Given the description of an element on the screen output the (x, y) to click on. 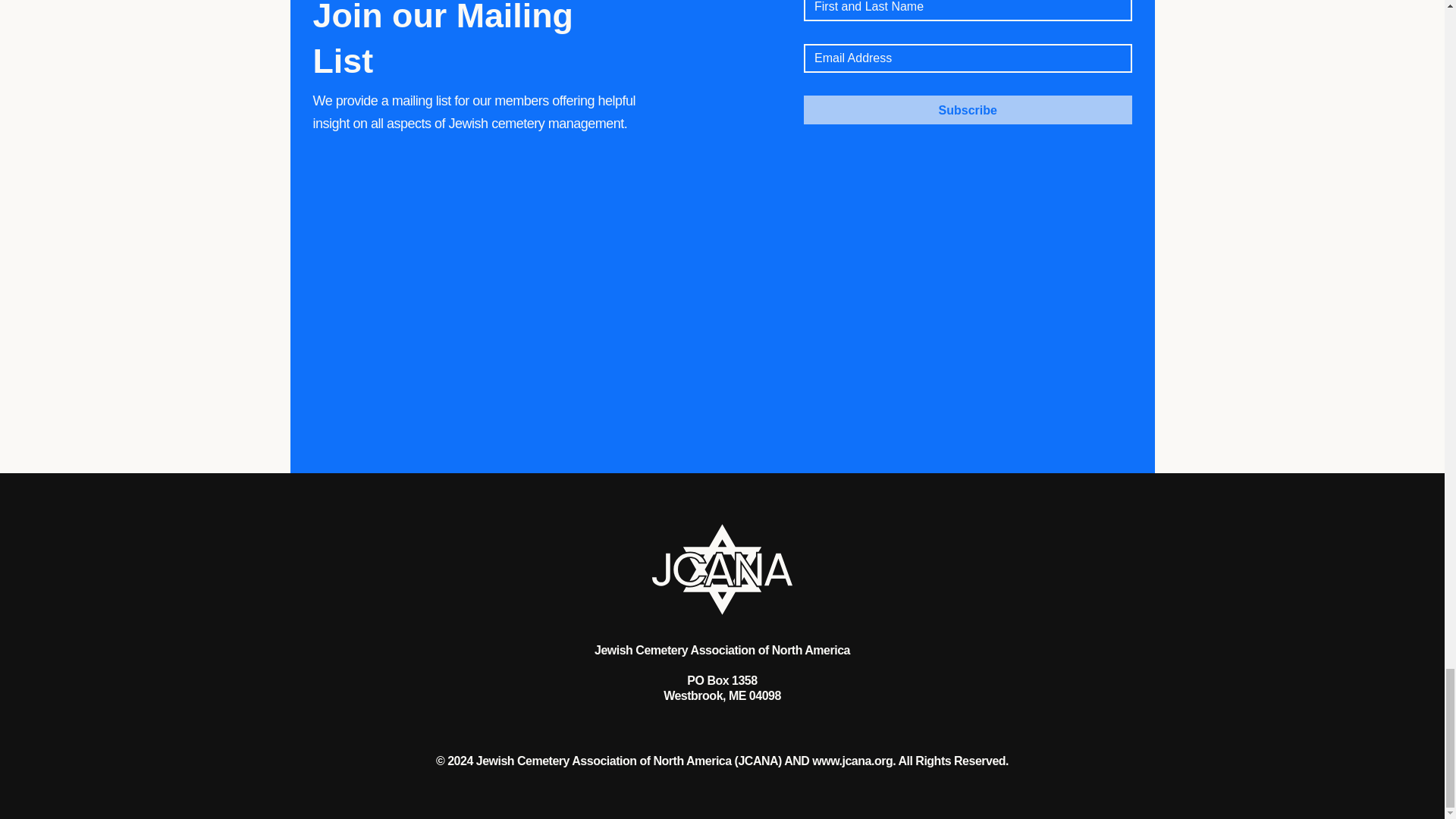
Subscribe (967, 109)
Subscribe (967, 109)
